Given the description of an element on the screen output the (x, y) to click on. 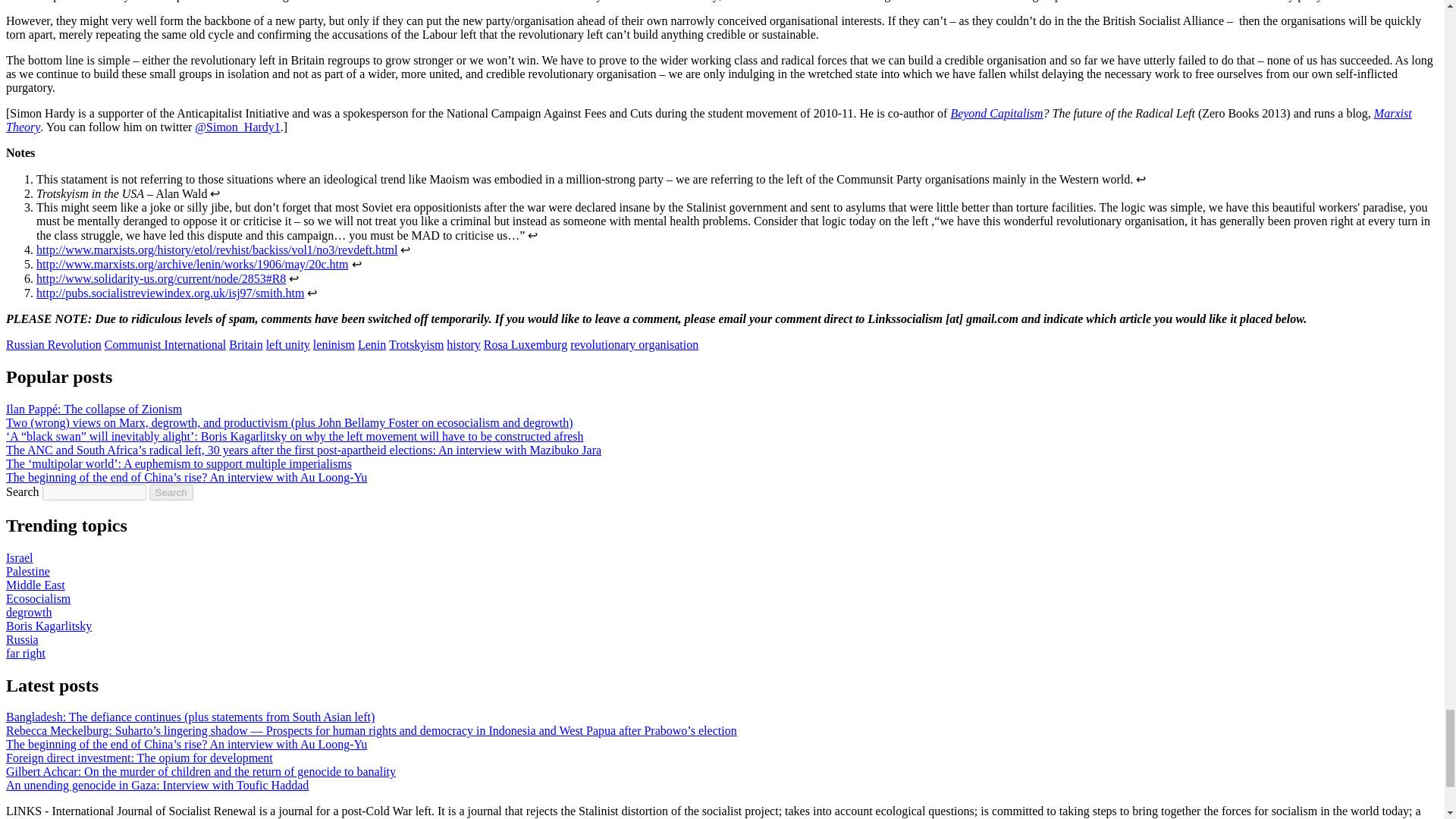
Search (171, 492)
Enter the terms you wish to search for. (94, 492)
Search (171, 492)
